Given the description of an element on the screen output the (x, y) to click on. 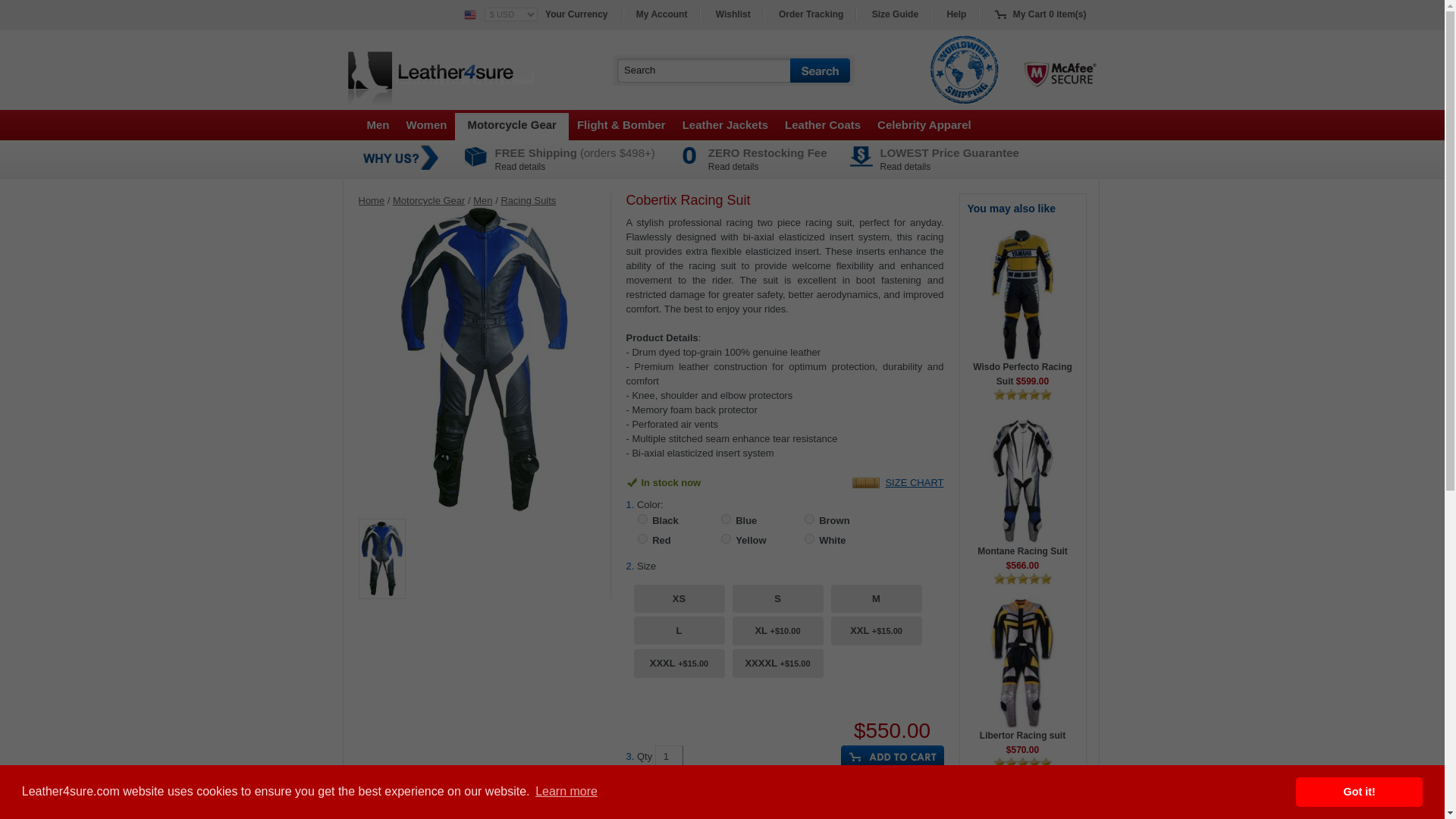
Read details (905, 166)
Read details (519, 166)
Worldwide Shipping (965, 70)
Men (482, 200)
Leather Coats (822, 124)
Read details (732, 166)
Racing Suits (528, 200)
Help (956, 14)
Size Guide (895, 14)
Wishlist (733, 14)
Home (371, 200)
31 (725, 538)
Motorcycle Gear (428, 200)
Women (425, 124)
Men (377, 124)
